Given the description of an element on the screen output the (x, y) to click on. 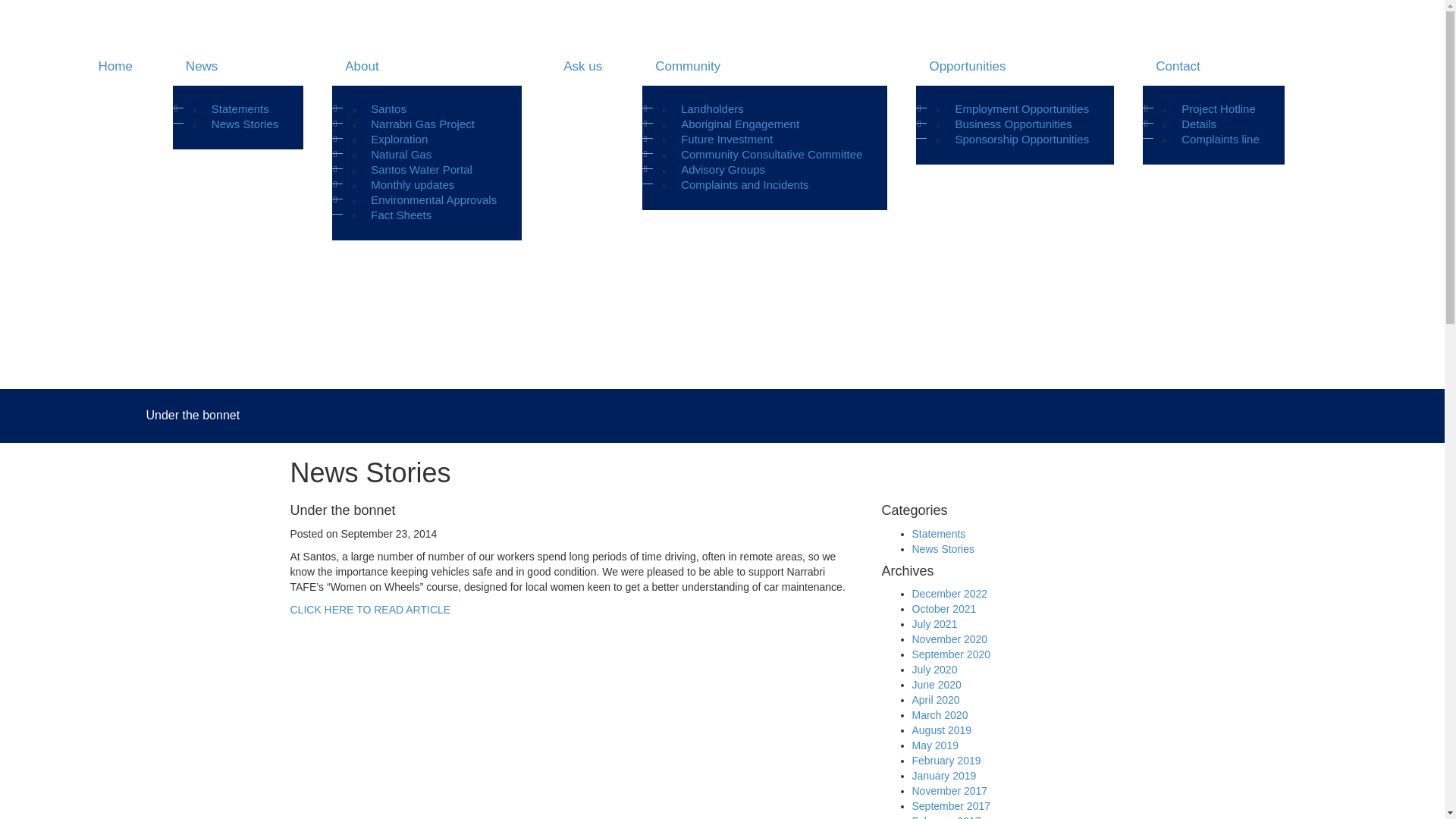
Project Hotline Element type: text (1218, 108)
Search for: Element type: hover (941, 235)
About Element type: text (426, 66)
Business Opportunities Element type: text (1012, 123)
Complaints and Incidents Element type: text (744, 184)
Sponsorship Opportunities Element type: text (1021, 139)
Fact Sheets Element type: text (401, 214)
News Stories Element type: text (942, 548)
Landholders Element type: text (712, 108)
Employment Opportunities Element type: text (1021, 108)
October 2021 Element type: text (943, 608)
Opportunities Element type: text (1014, 66)
Statements Element type: text (938, 533)
November 2017 Element type: text (949, 790)
Ask us Element type: text (581, 66)
Advisory Groups Element type: text (722, 169)
Home Element type: text (113, 66)
Future Investment Element type: text (726, 139)
January 2019 Element type: text (943, 775)
Community Element type: text (764, 66)
December 2022 Element type: text (949, 593)
May 2019 Element type: text (934, 745)
Monthly updates Element type: text (412, 184)
September 2017 Element type: text (950, 806)
November 2020 Element type: text (949, 639)
Environmental Approvals Element type: text (433, 199)
Narrabri Gas Project Element type: text (422, 123)
News Element type: text (237, 66)
Exploration Element type: text (399, 139)
News Stories Element type: text (244, 123)
Aboriginal Engagement Element type: text (740, 123)
March 2020 Element type: text (939, 715)
Santos Water Portal Element type: text (421, 169)
July 2021 Element type: text (934, 624)
Santos Element type: text (388, 108)
Complaints line Element type: text (1220, 139)
Statements Element type: text (240, 108)
Details Element type: text (1198, 123)
June 2020 Element type: text (935, 684)
Natural Gas Element type: text (401, 154)
Contact Element type: text (1213, 66)
February 2019 Element type: text (945, 760)
Search Element type: text (26, 9)
April 2020 Element type: text (935, 699)
CLICK HERE TO READ ARTICLE Element type: text (369, 609)
August 2019 Element type: text (941, 730)
September 2020 Element type: text (950, 654)
Community Consultative Committee Element type: text (771, 154)
July 2020 Element type: text (934, 669)
